Given the description of an element on the screen output the (x, y) to click on. 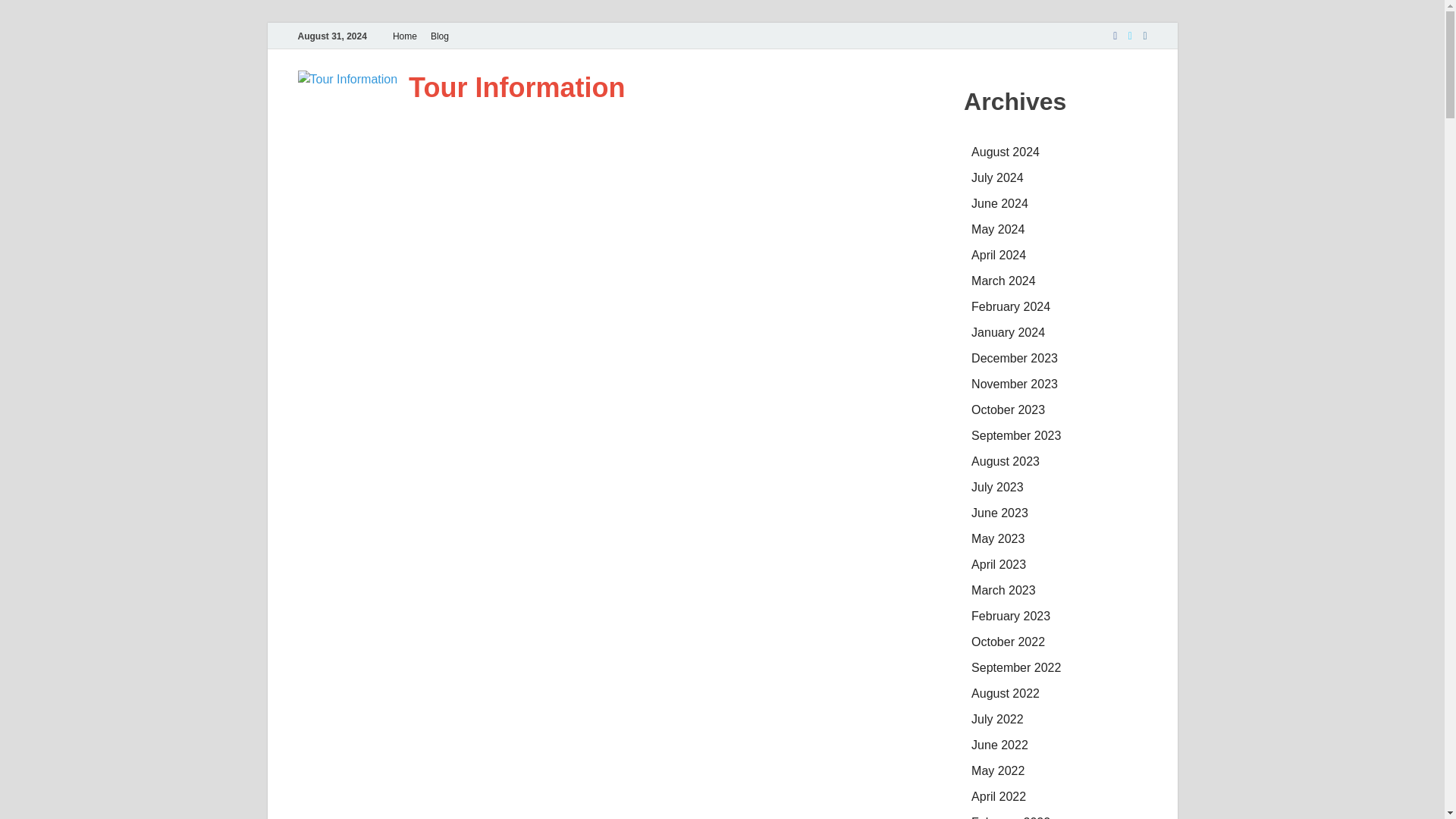
February 2023 (1010, 615)
Home (404, 35)
September 2023 (1016, 435)
June 2022 (999, 744)
September 2022 (1016, 667)
June 2023 (999, 512)
Blog (439, 35)
February 2024 (1010, 306)
August 2023 (1005, 461)
February 2022 (1010, 817)
